Given the description of an element on the screen output the (x, y) to click on. 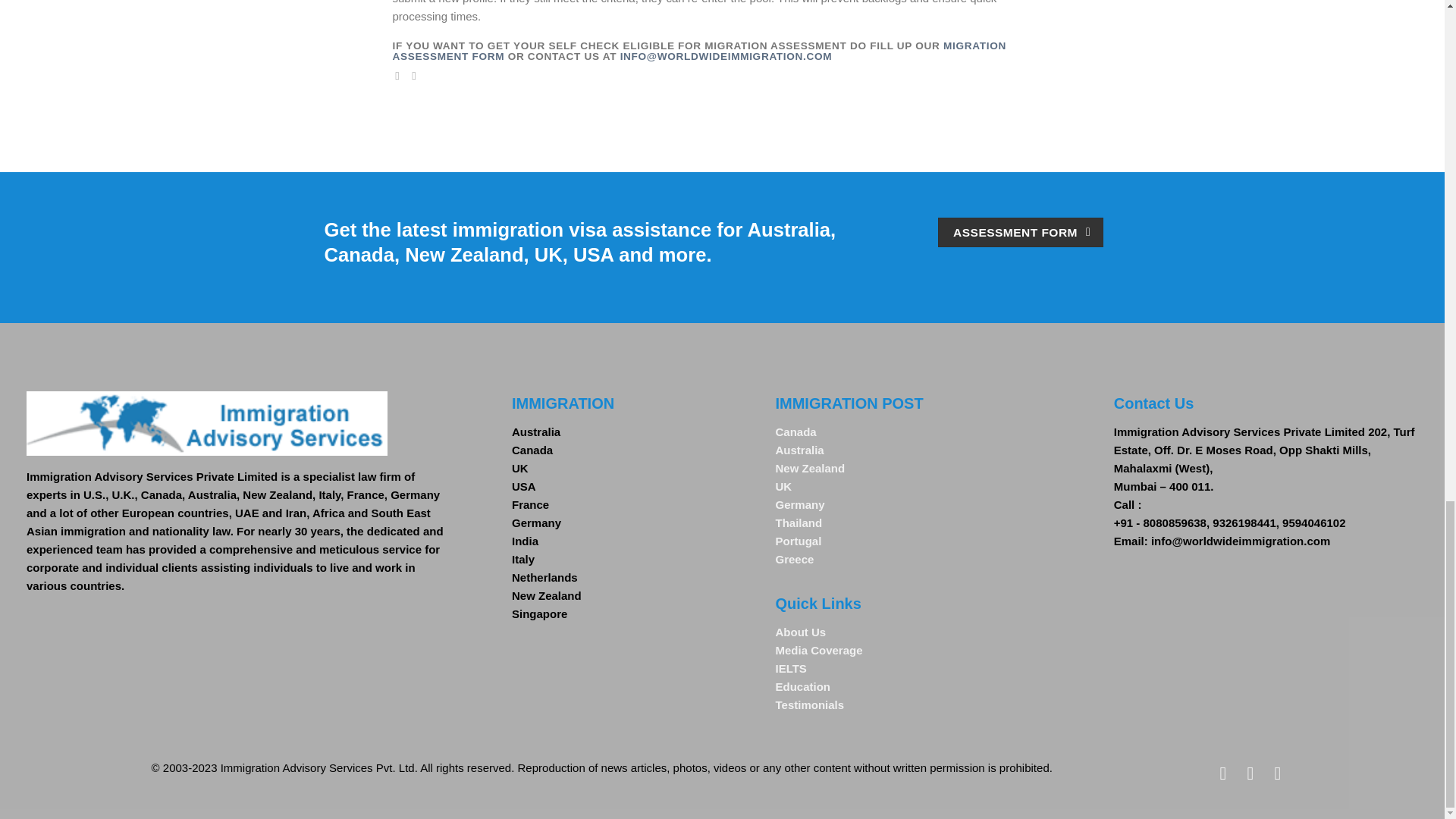
Share on Facebook (400, 75)
ASSESSMENT FORM (1020, 232)
MIGRATION ASSESSMENT FORM (699, 51)
Canada (532, 449)
UK (520, 468)
USA (523, 486)
Share on LinkedIn (417, 75)
Australia (536, 431)
